Given the description of an element on the screen output the (x, y) to click on. 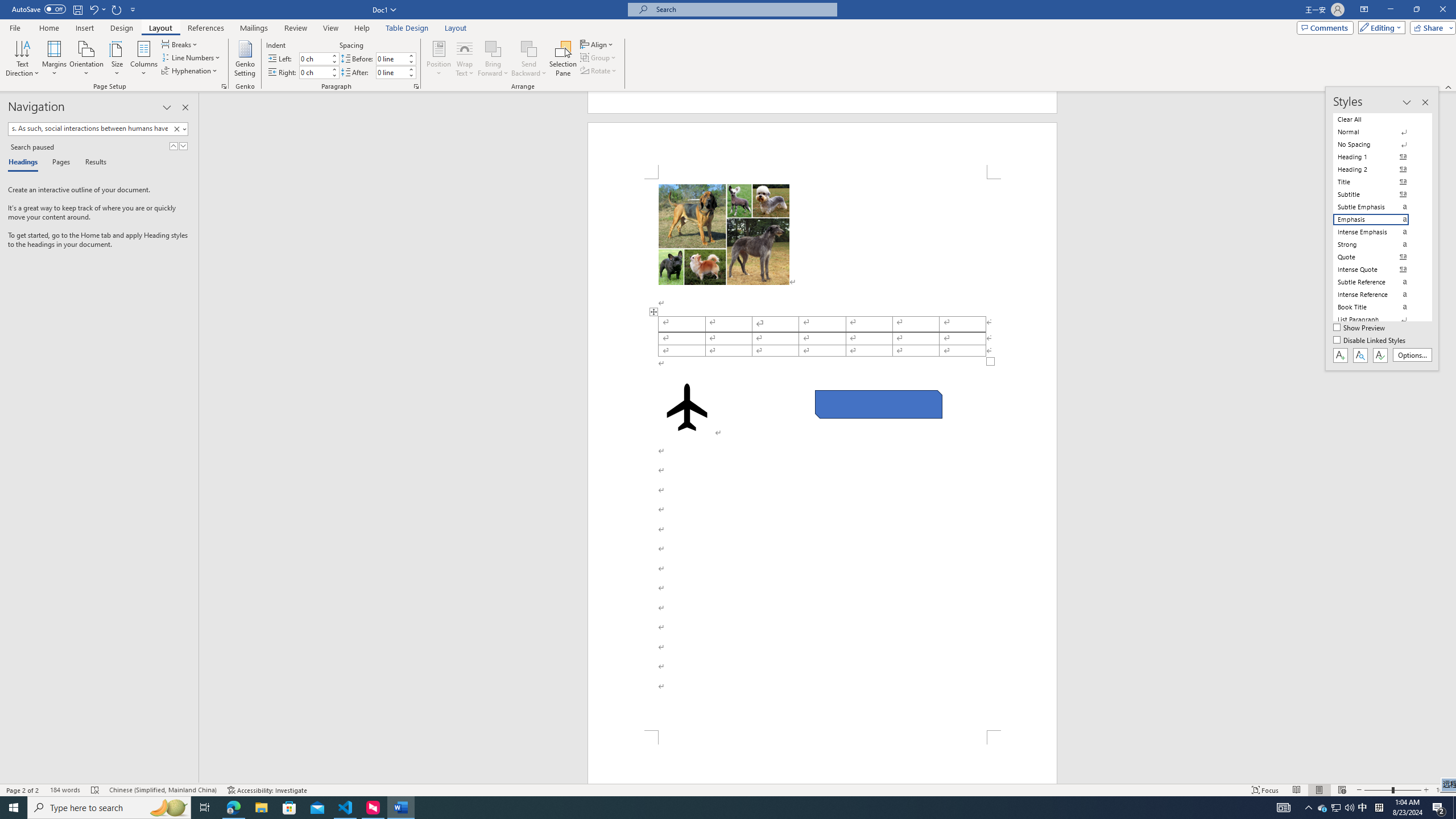
Less (411, 75)
Align (597, 44)
Zoom 104% (1443, 790)
Previous Result (173, 145)
